Given the description of an element on the screen output the (x, y) to click on. 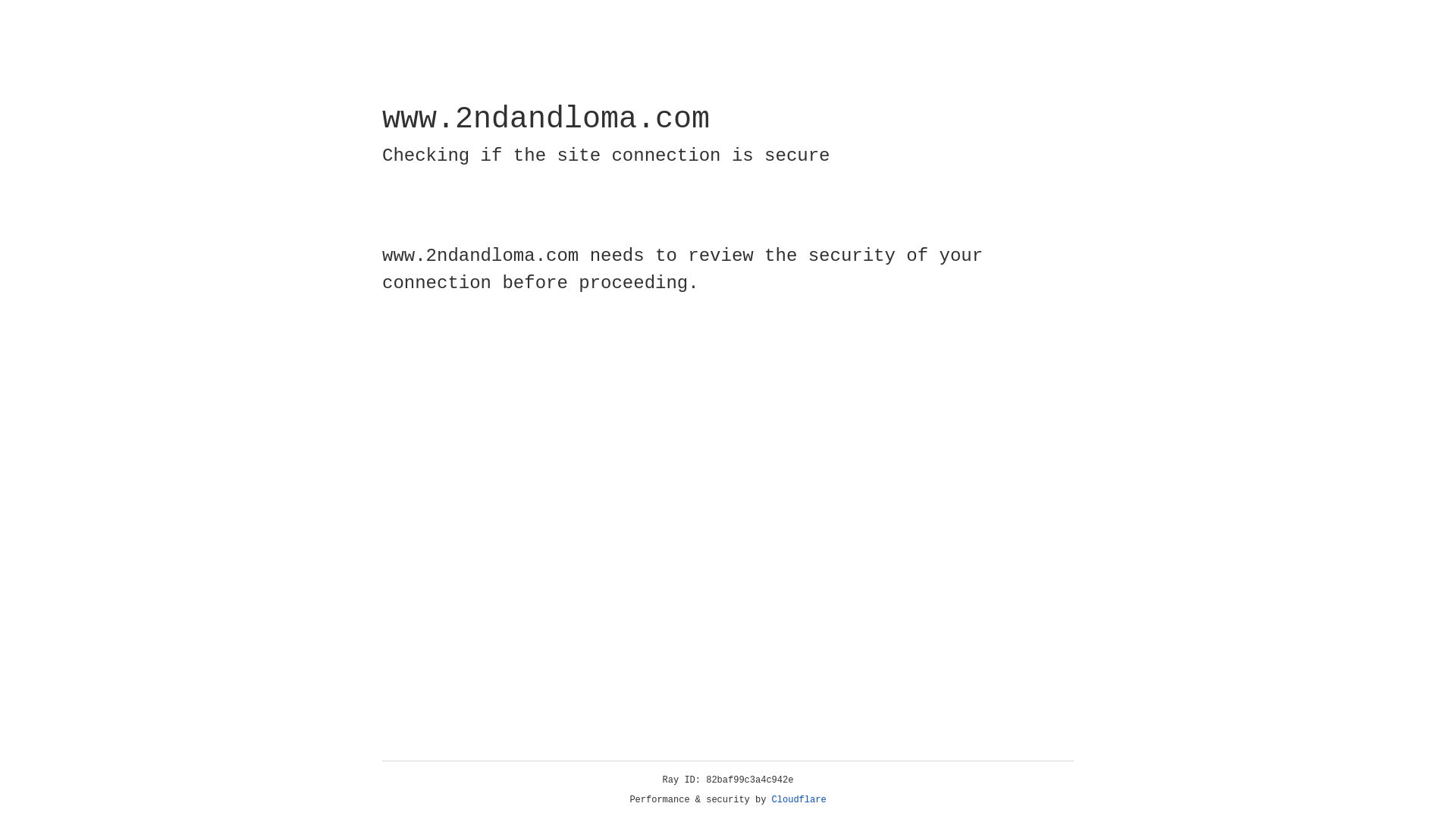
Cloudflare Element type: text (798, 799)
